Given the description of an element on the screen output the (x, y) to click on. 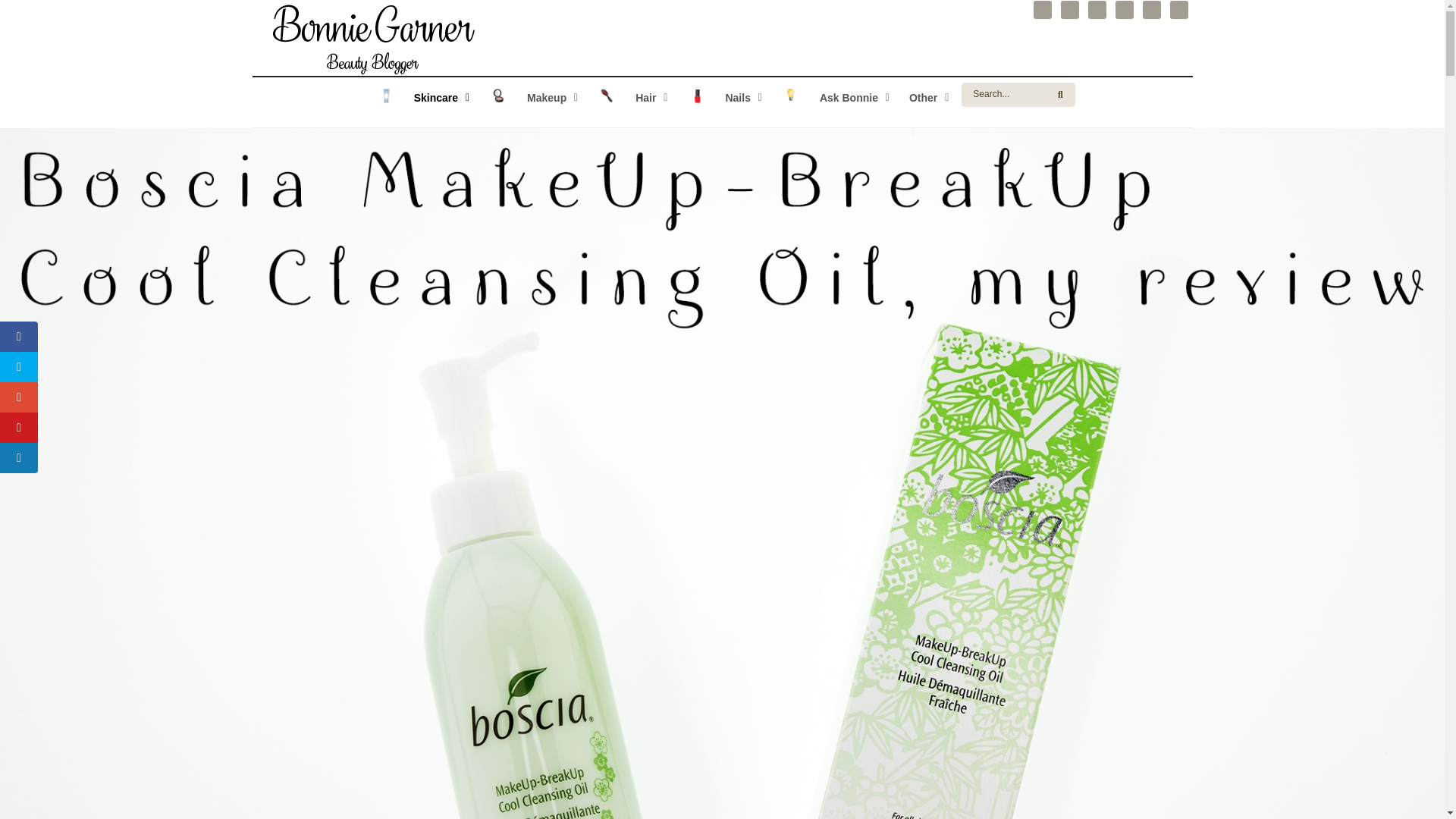
Bonnie Garner - Skincare, makeup, nails (369, 39)
Hair (630, 96)
Makeup (531, 96)
Nails (721, 96)
Makeup (531, 96)
Skincare (721, 101)
Ask Bonnie (420, 96)
Other (833, 96)
Skincare (926, 96)
Nails (420, 96)
Ask Bonnie (721, 96)
Hair (833, 96)
